Given the description of an element on the screen output the (x, y) to click on. 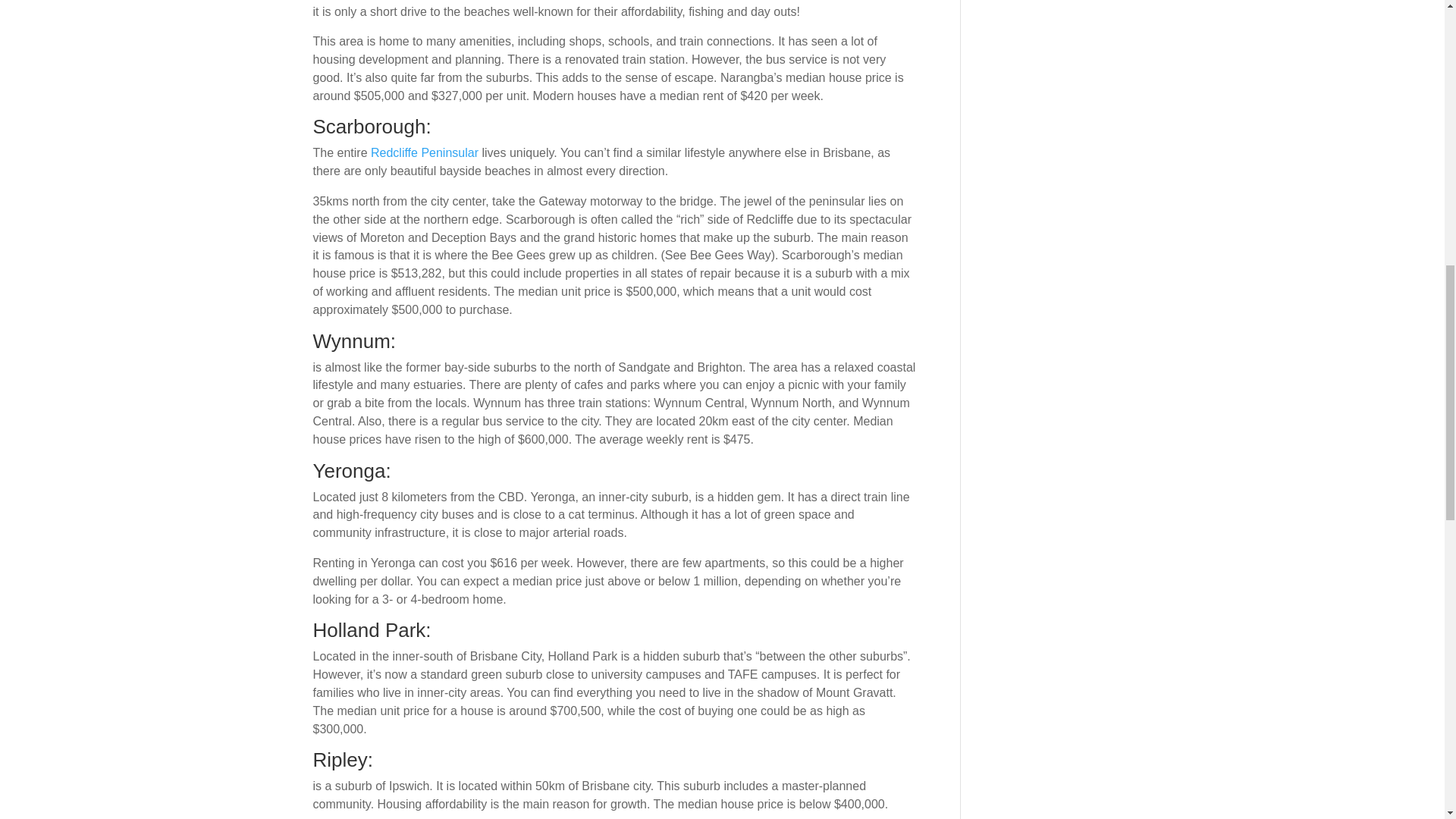
Redcliffe Peninsular (425, 152)
